Given the description of an element on the screen output the (x, y) to click on. 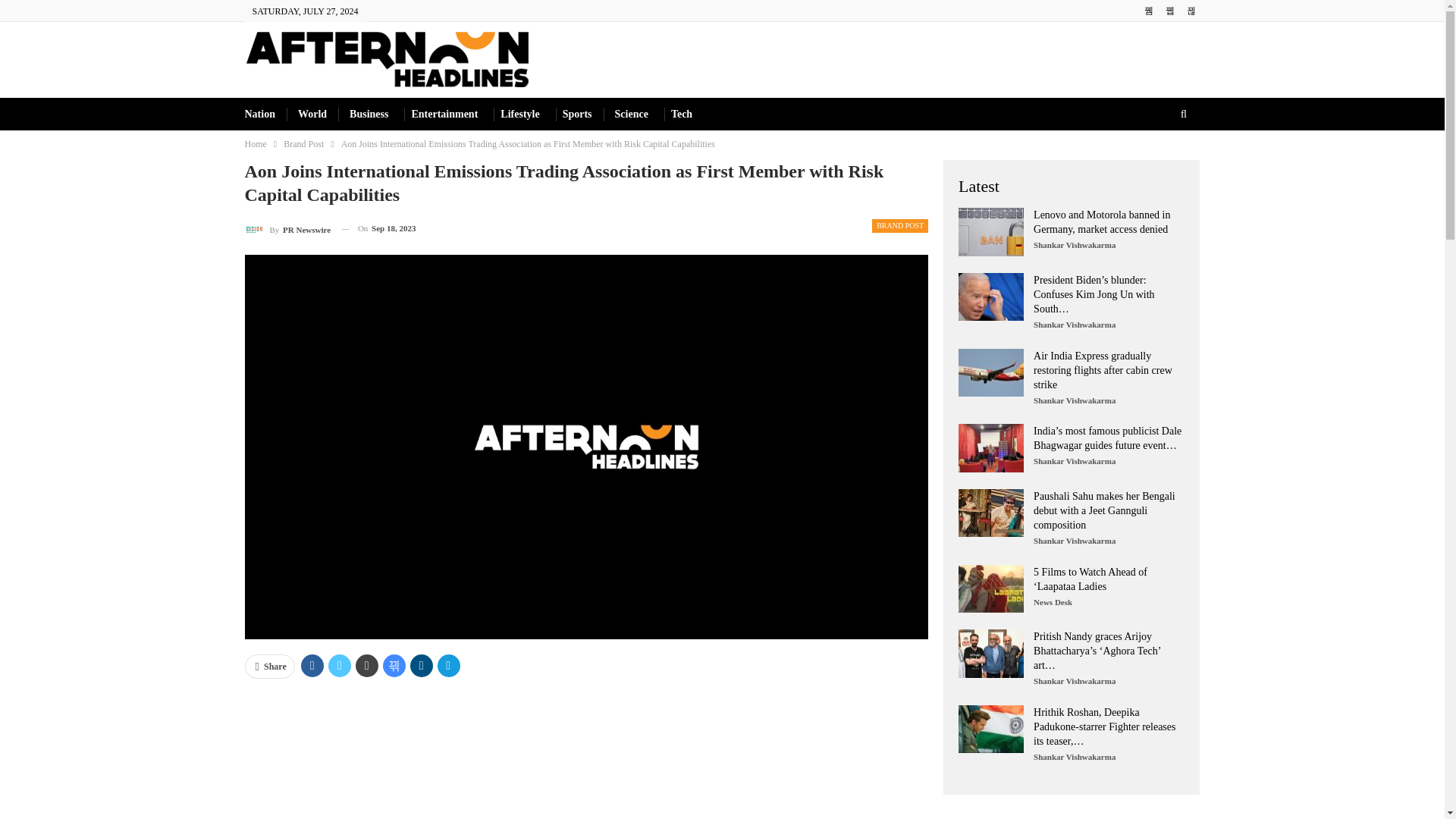
Advertisement (586, 755)
Lifestyle (519, 113)
Nation (259, 113)
Science (630, 113)
Entertainment (443, 113)
Sports (577, 113)
Business (368, 113)
Browse Author Articles (287, 228)
